Given the description of an element on the screen output the (x, y) to click on. 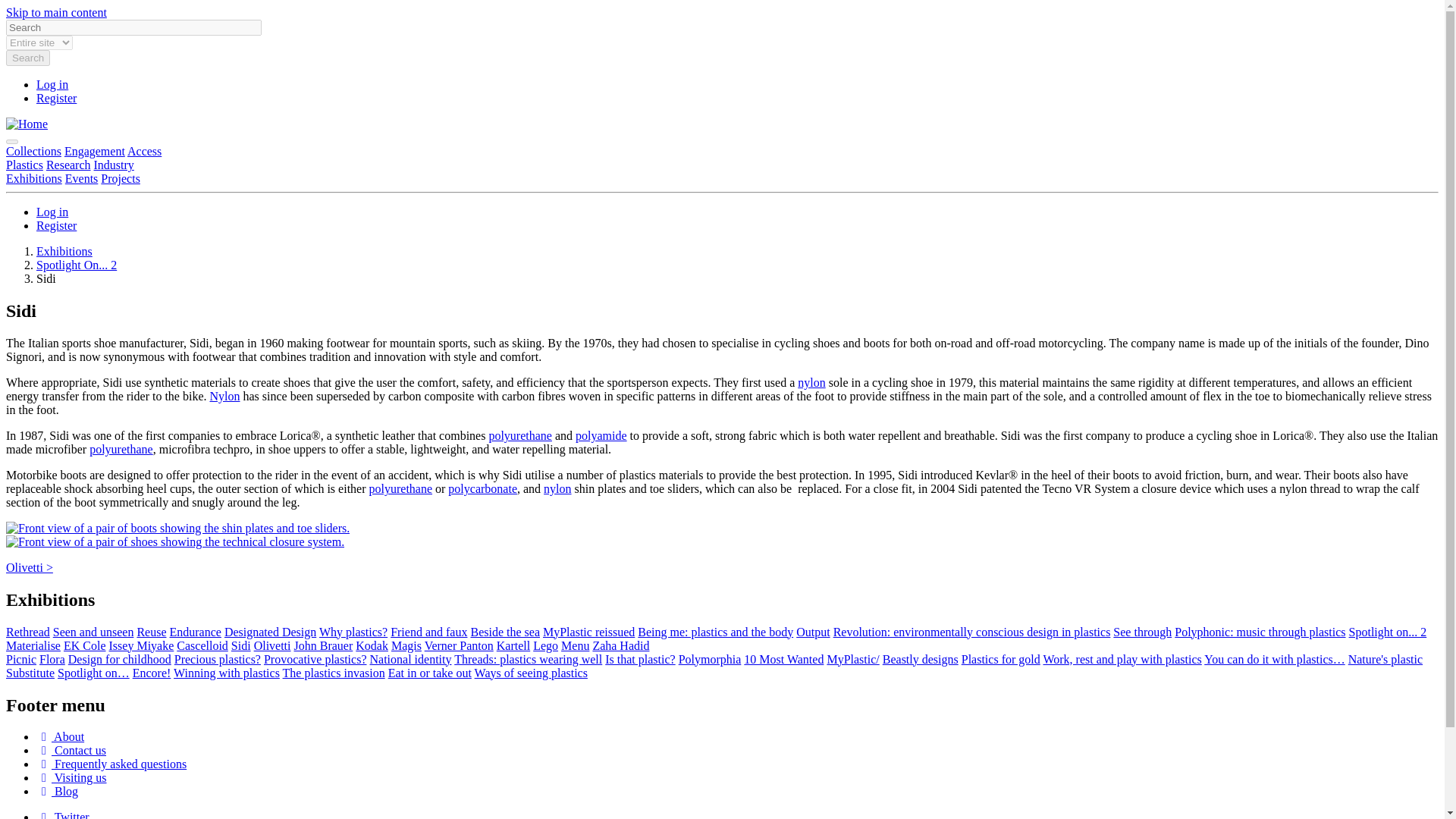
Industry (113, 164)
Spotlight on... 2 (1387, 631)
Polyamide (601, 435)
See through (1142, 631)
Skip to main content (55, 11)
Materialise (33, 645)
Register (56, 225)
Register (56, 97)
nylon (811, 382)
Seen and unseen (92, 631)
Sidi (240, 645)
Spotlight On... 2 (76, 264)
Reuse (150, 631)
Polyurethane (400, 488)
polyurethane (519, 435)
